Given the description of an element on the screen output the (x, y) to click on. 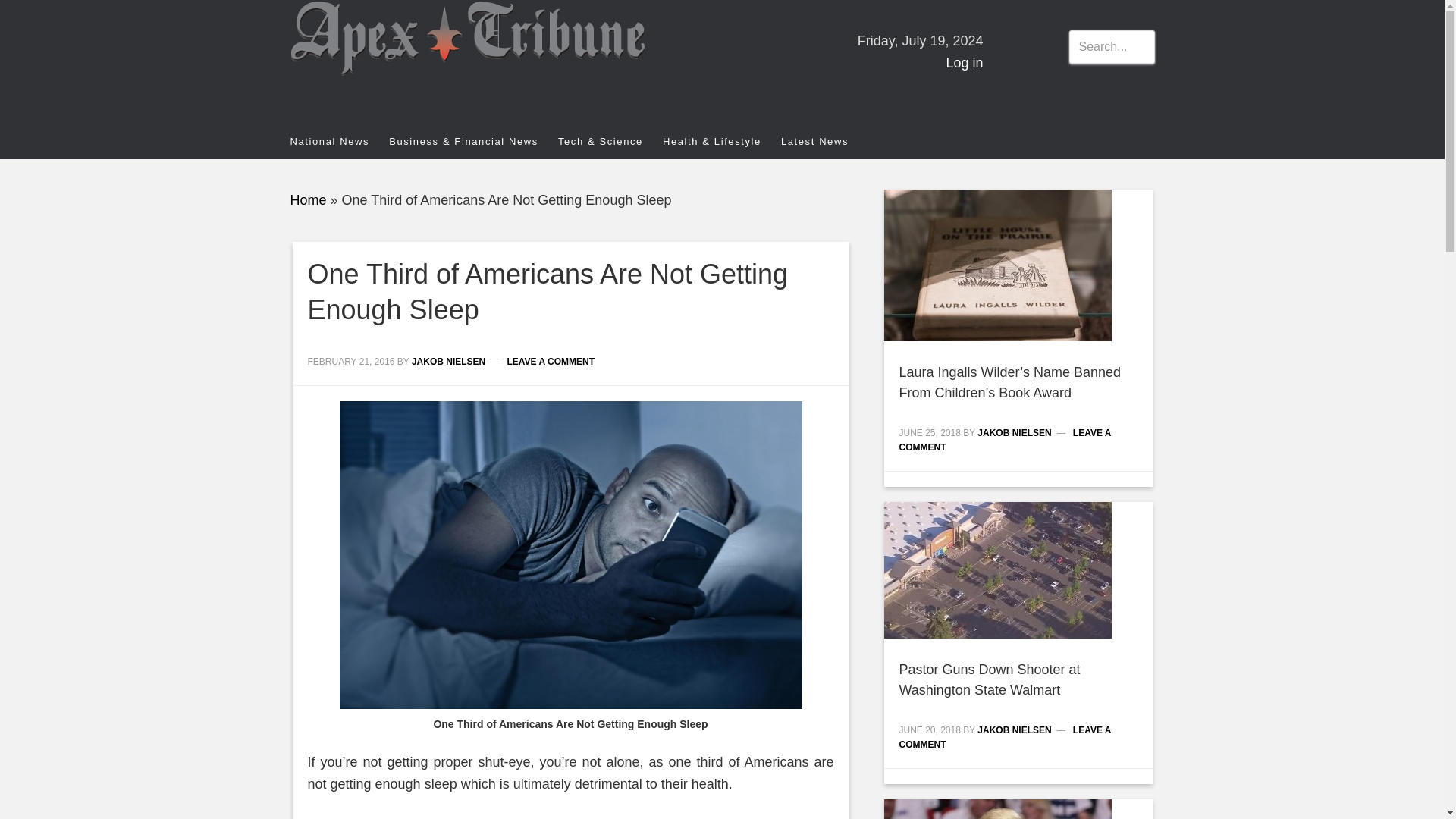
JAKOB NIELSEN (1013, 729)
Pastor Guns Down Shooter at Washington State Walmart (989, 678)
JAKOB NIELSEN (448, 361)
Home (307, 200)
LEAVE A COMMENT (550, 361)
JAKOB NIELSEN (1013, 432)
Log in (963, 62)
Latest News (823, 141)
LEAVE A COMMENT (1005, 737)
National News (338, 141)
LEAVE A COMMENT (1005, 440)
Apex Tribune - World Latest Breaking News (425, 62)
